Given the description of an element on the screen output the (x, y) to click on. 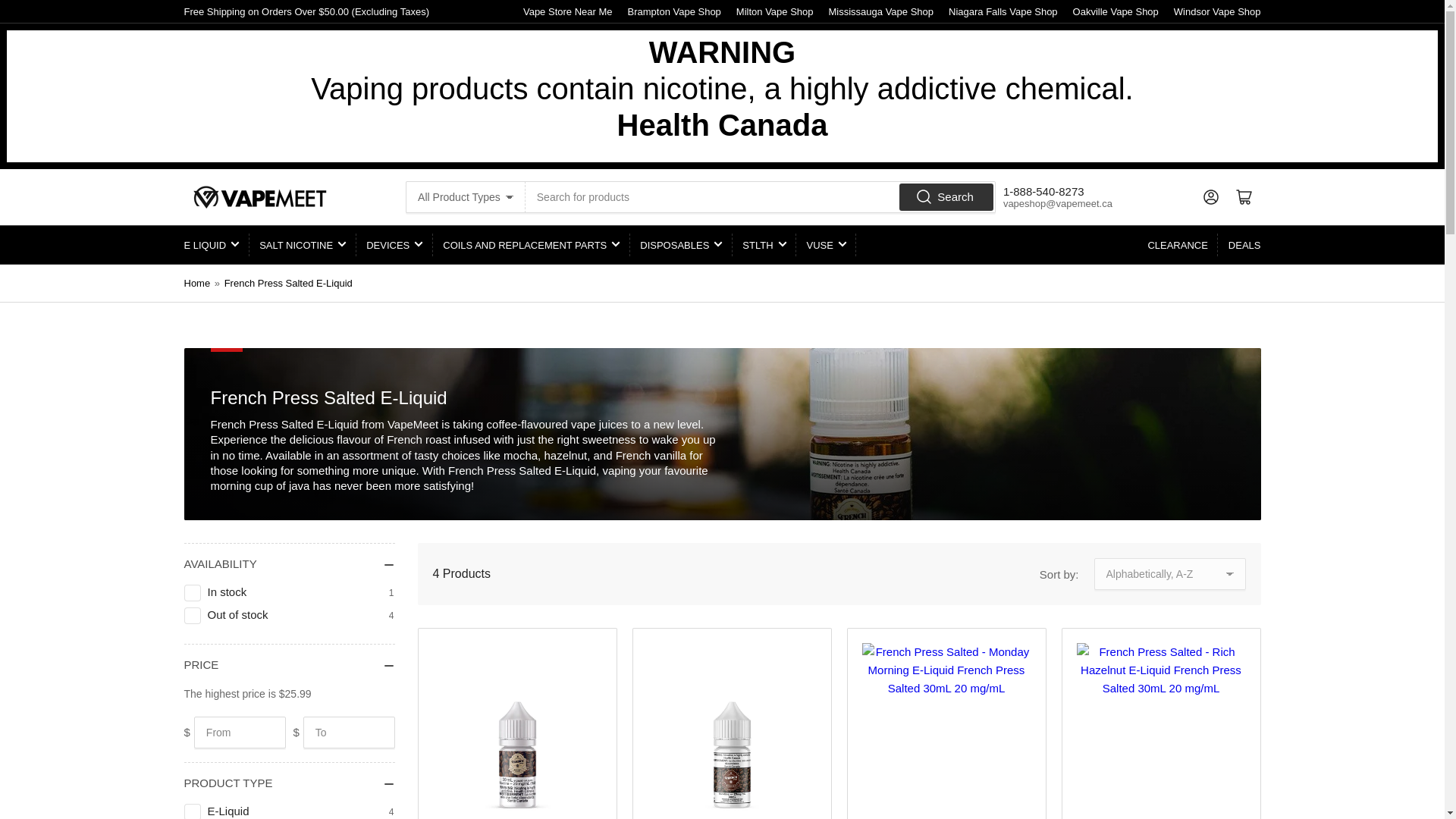
Mississauga Vape Shop (881, 11)
0 (192, 615)
Brampton Vape Shop (673, 11)
Open mini cart (1243, 196)
1 (192, 592)
Log in (1210, 196)
Vape Store Near Me (567, 11)
Niagara Falls Vape Shop (1003, 11)
E-Liquid (192, 811)
Oakville Vape Shop (1115, 11)
Milton Vape Shop (774, 11)
Windsor Vape Shop (1216, 11)
Search (945, 196)
